Given the description of an element on the screen output the (x, y) to click on. 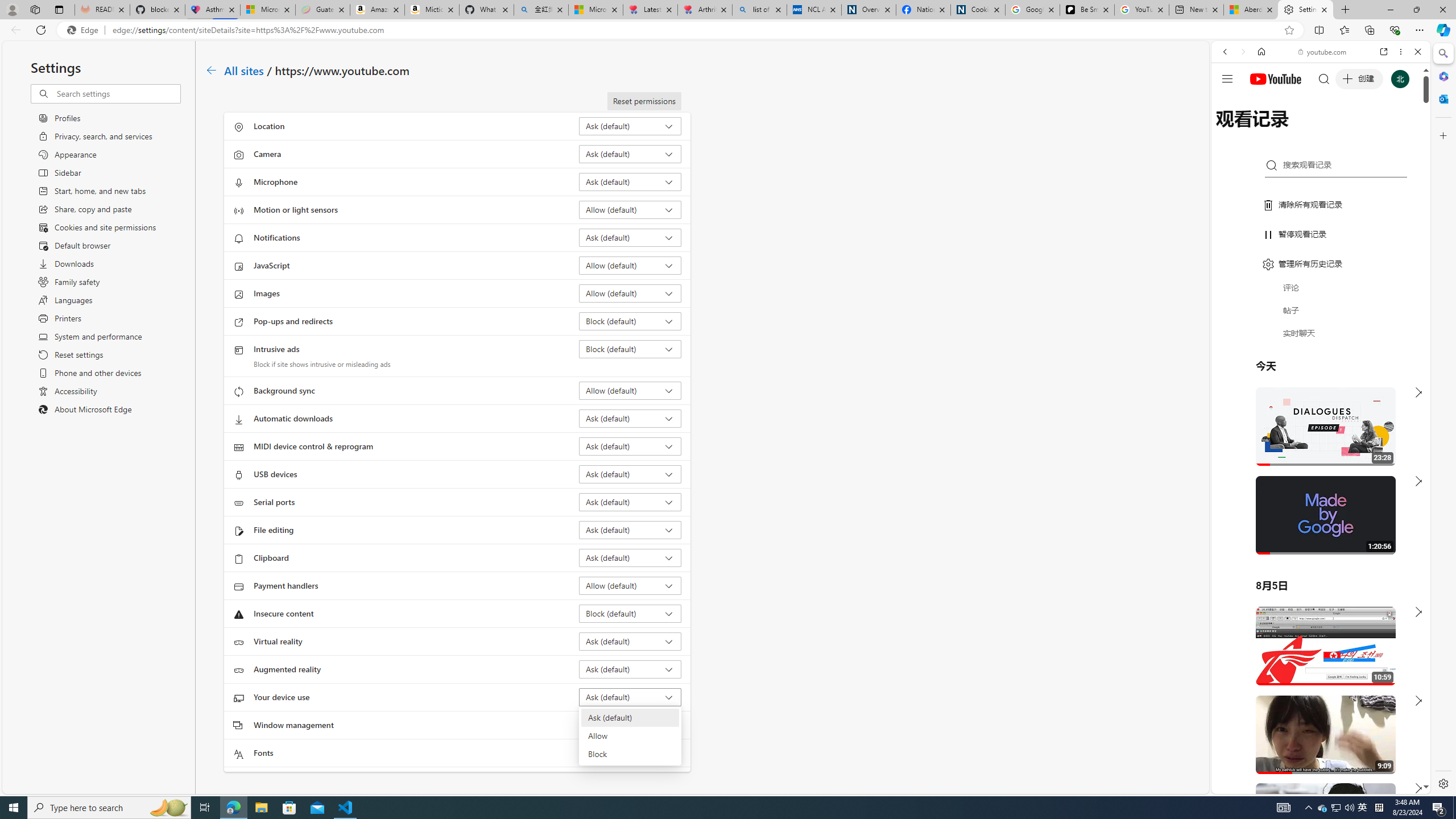
Virtual reality Ask (default) (630, 641)
Pop-ups and redirects Block (default) (630, 321)
Camera Ask (default) (630, 153)
Payment handlers Allow (default) (630, 585)
Motion or light sensors Allow (default) (630, 209)
Class: dict_pnIcon rms_img (1312, 784)
